Given the description of an element on the screen output the (x, y) to click on. 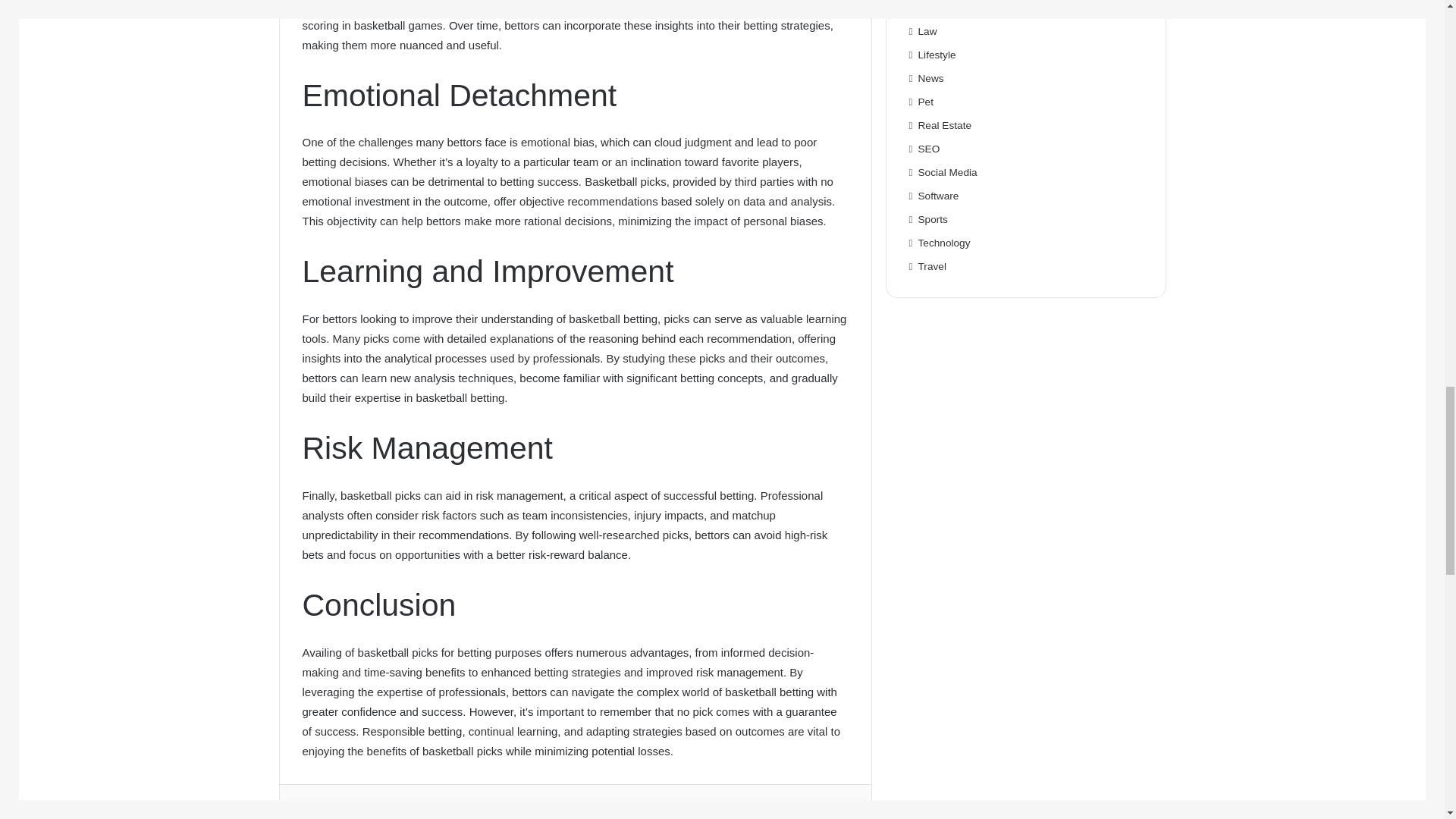
Tumblr (670, 809)
Twitter (482, 809)
LinkedIn (576, 809)
Pinterest (764, 809)
Facebook (387, 809)
